Given the description of an element on the screen output the (x, y) to click on. 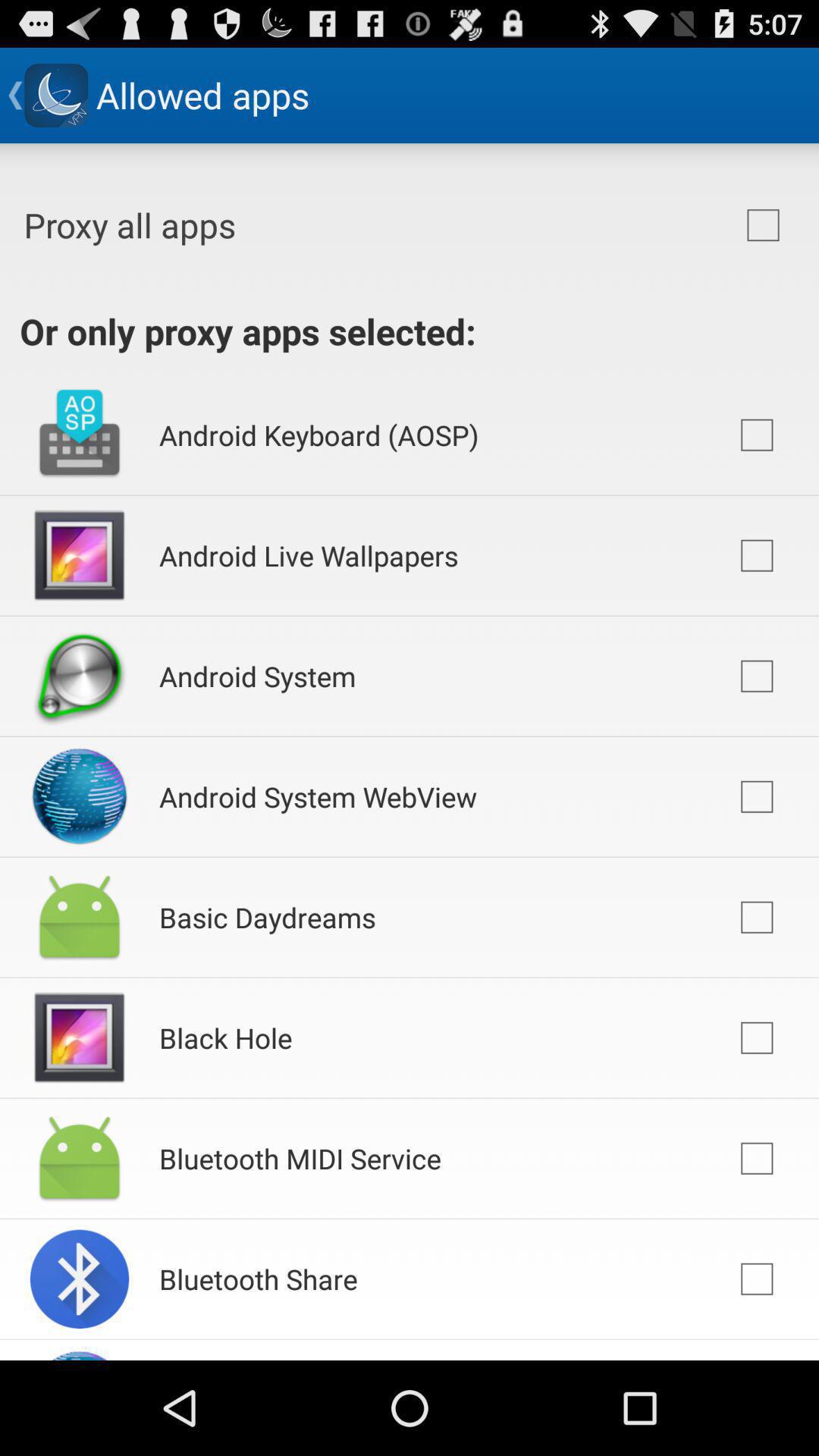
launch the item below black hole app (300, 1158)
